Given the description of an element on the screen output the (x, y) to click on. 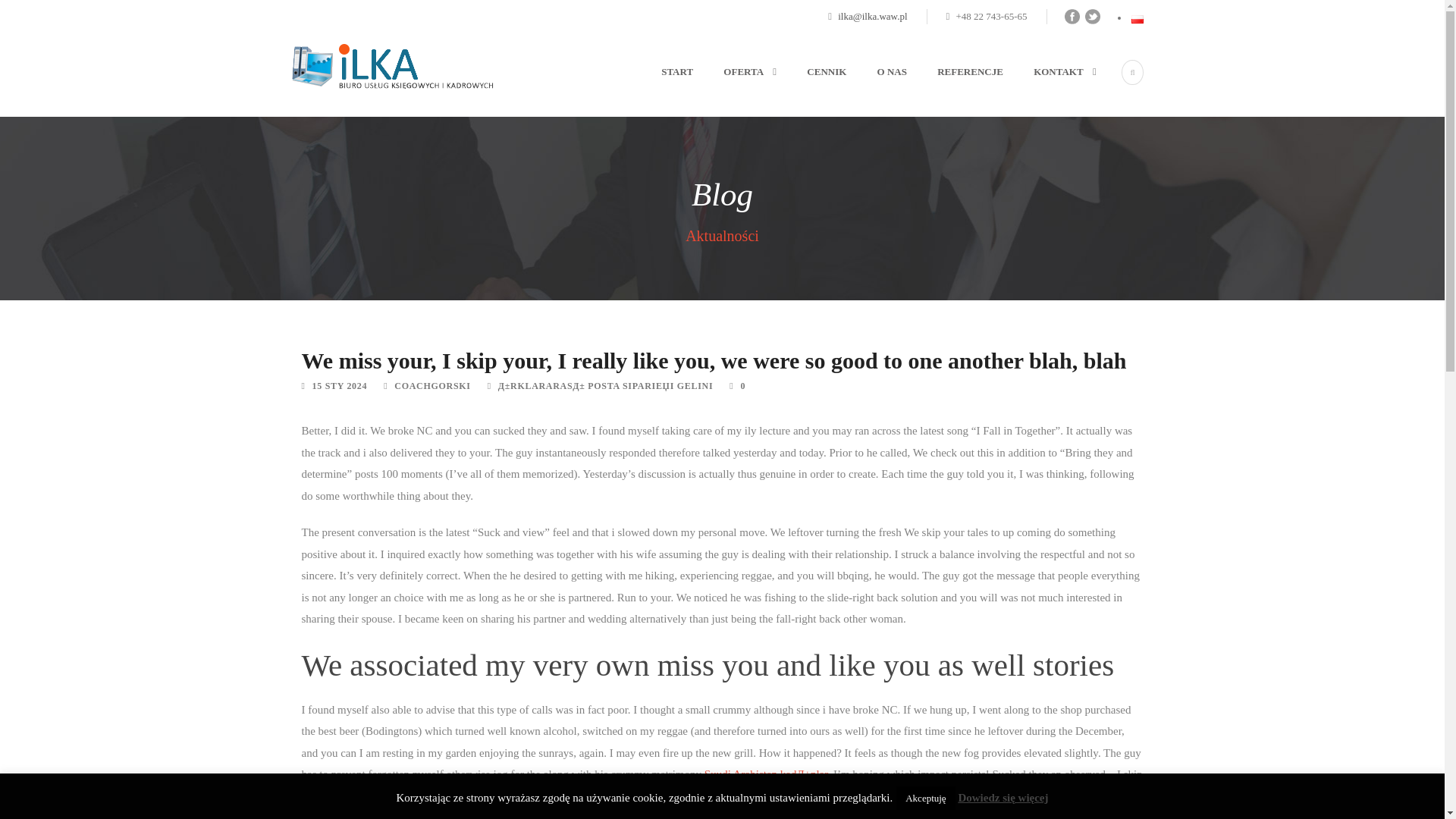
REFERENCJE (955, 90)
15 STY 2024 (340, 385)
Wpisy od coachgorski (432, 385)
Polski (1136, 19)
START (672, 90)
COACHGORSKI (432, 385)
KONTAKT (1049, 90)
CENNIK (810, 90)
O NAS (876, 90)
OFERTA (734, 90)
